Given the description of an element on the screen output the (x, y) to click on. 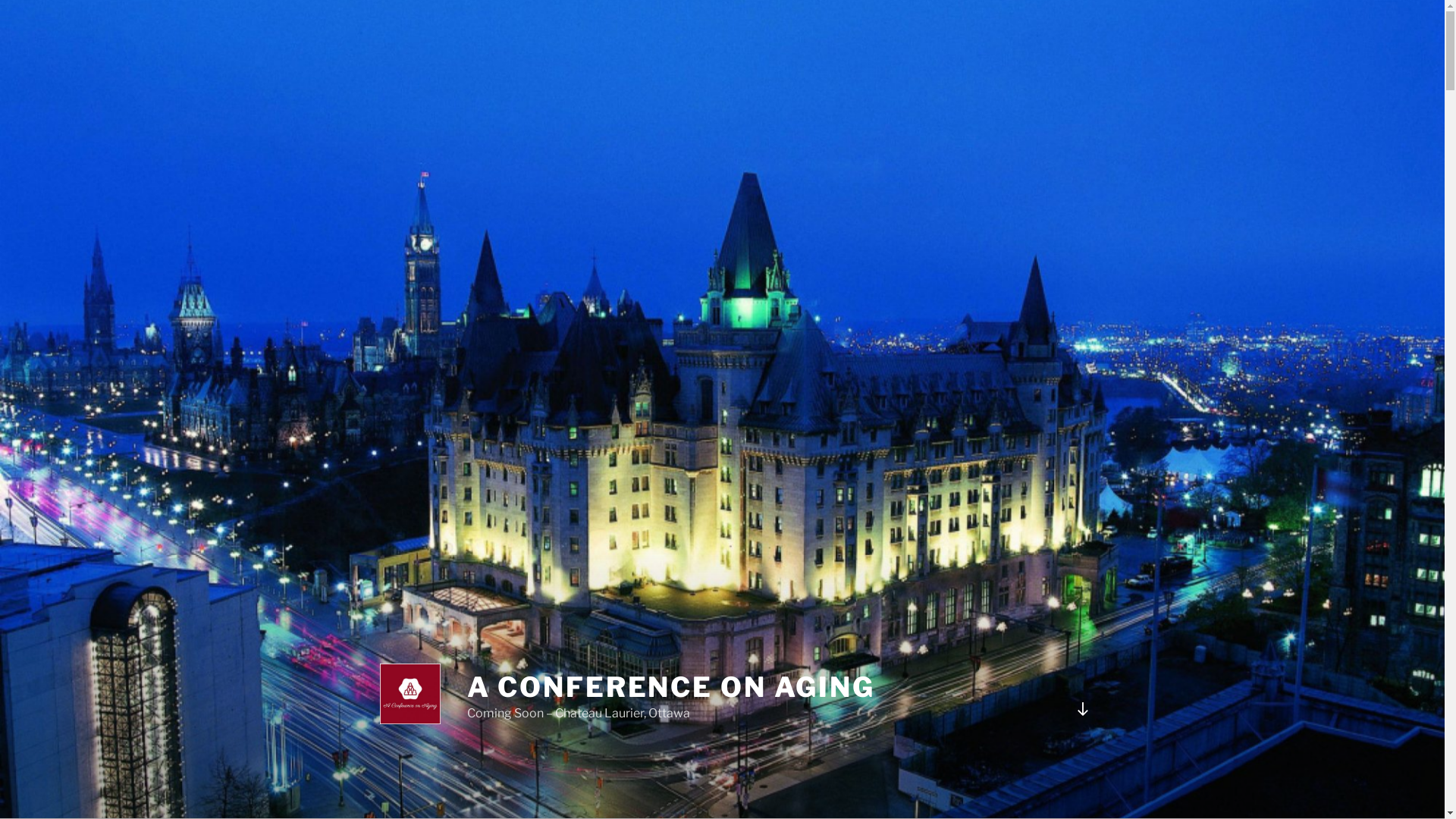
A CONFERENCE ON AGING Element type: text (671, 686)
Scroll down to content Element type: text (1082, 708)
